Given the description of an element on the screen output the (x, y) to click on. 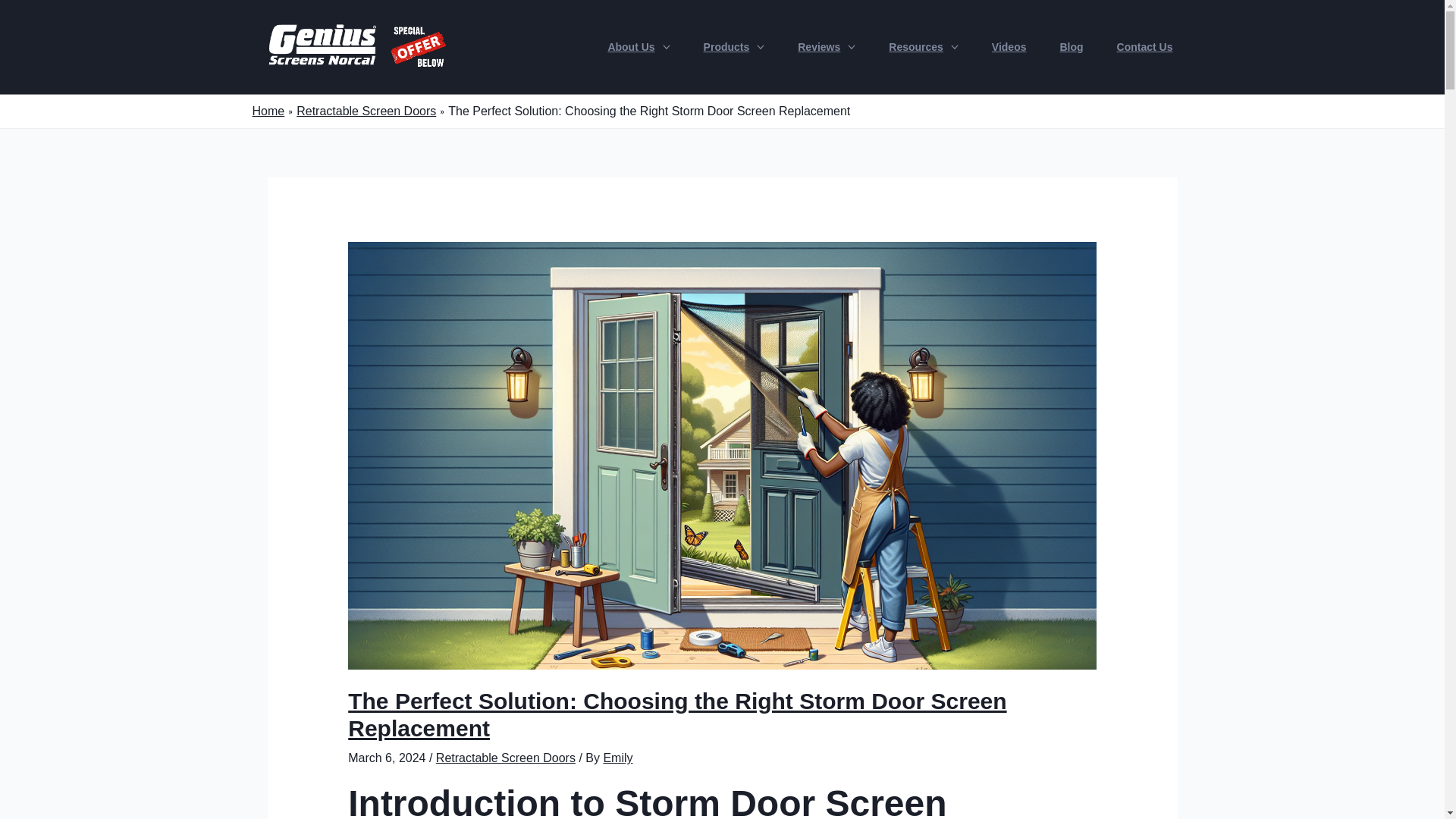
Contact Us (1144, 46)
Emily (616, 757)
Resources (915, 46)
Reviews (818, 46)
Retractable Screen Doors (505, 757)
Retractable Screen Doors (366, 110)
About Us (630, 46)
Blog (1071, 46)
Posts by Emily (616, 757)
Videos (1008, 46)
Products (726, 46)
Home (267, 110)
